Given the description of an element on the screen output the (x, y) to click on. 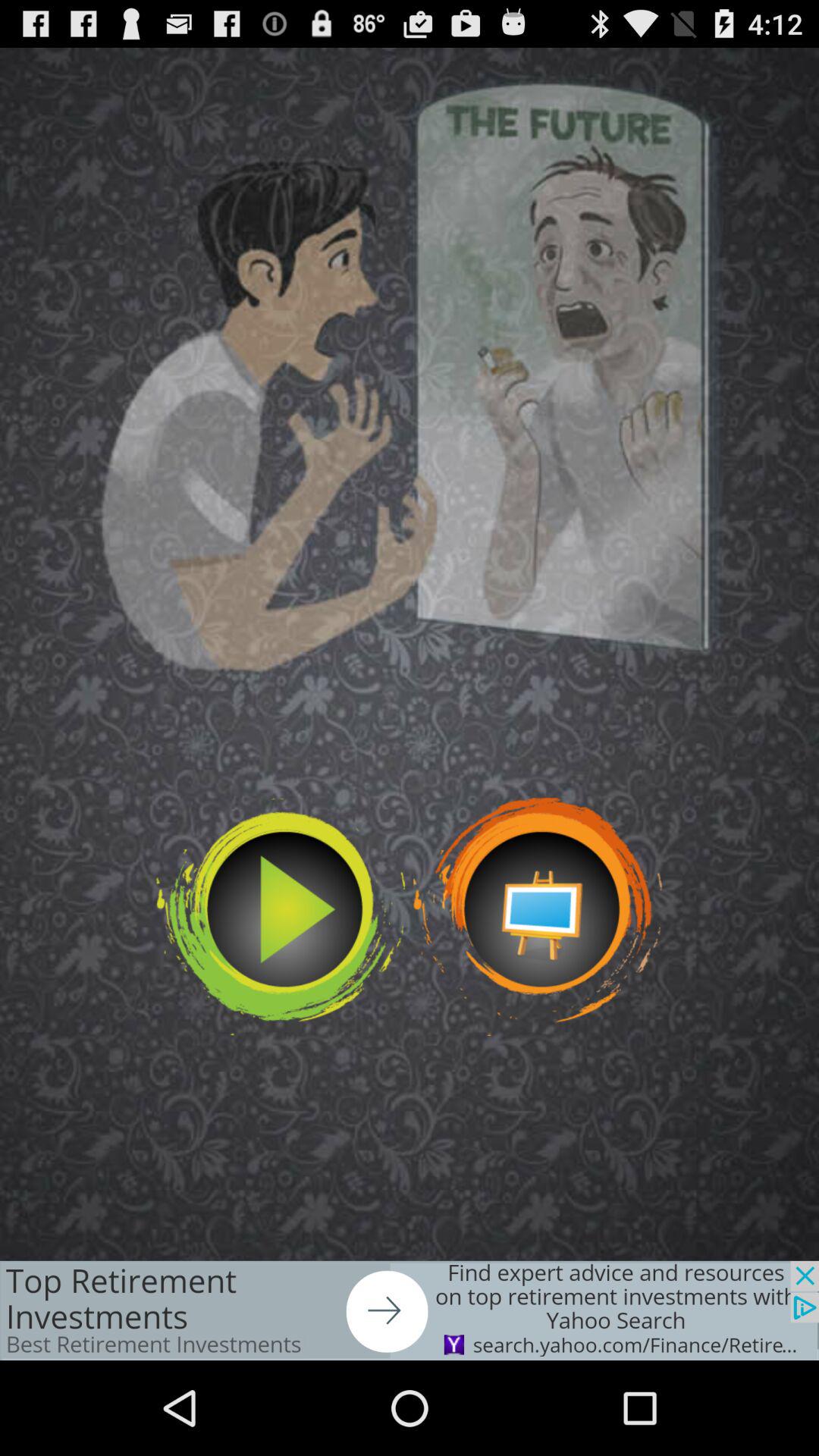
play video (280, 916)
